Given the description of an element on the screen output the (x, y) to click on. 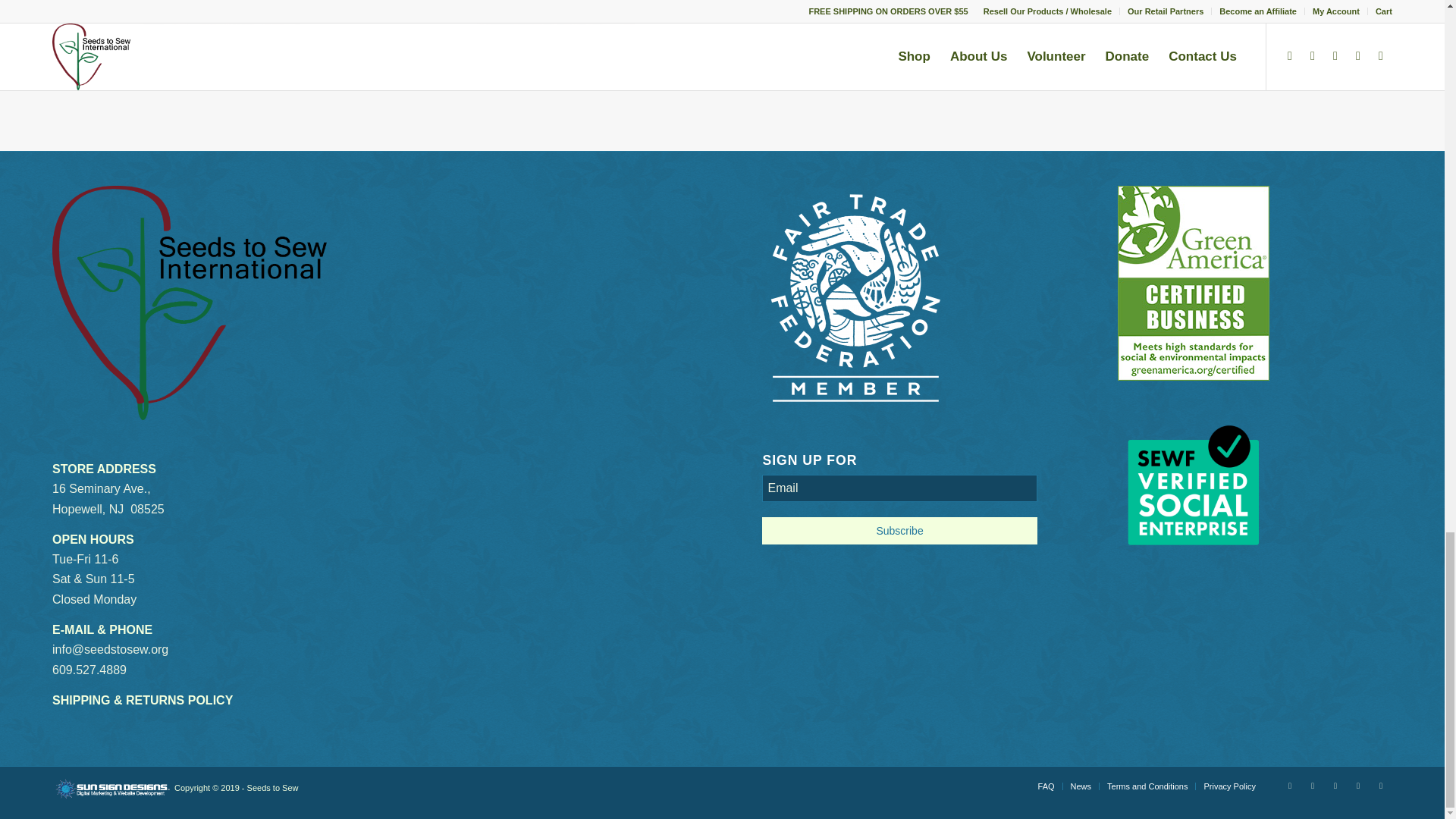
Subscribe (898, 530)
Subscribe (898, 530)
